Given the description of an element on the screen output the (x, y) to click on. 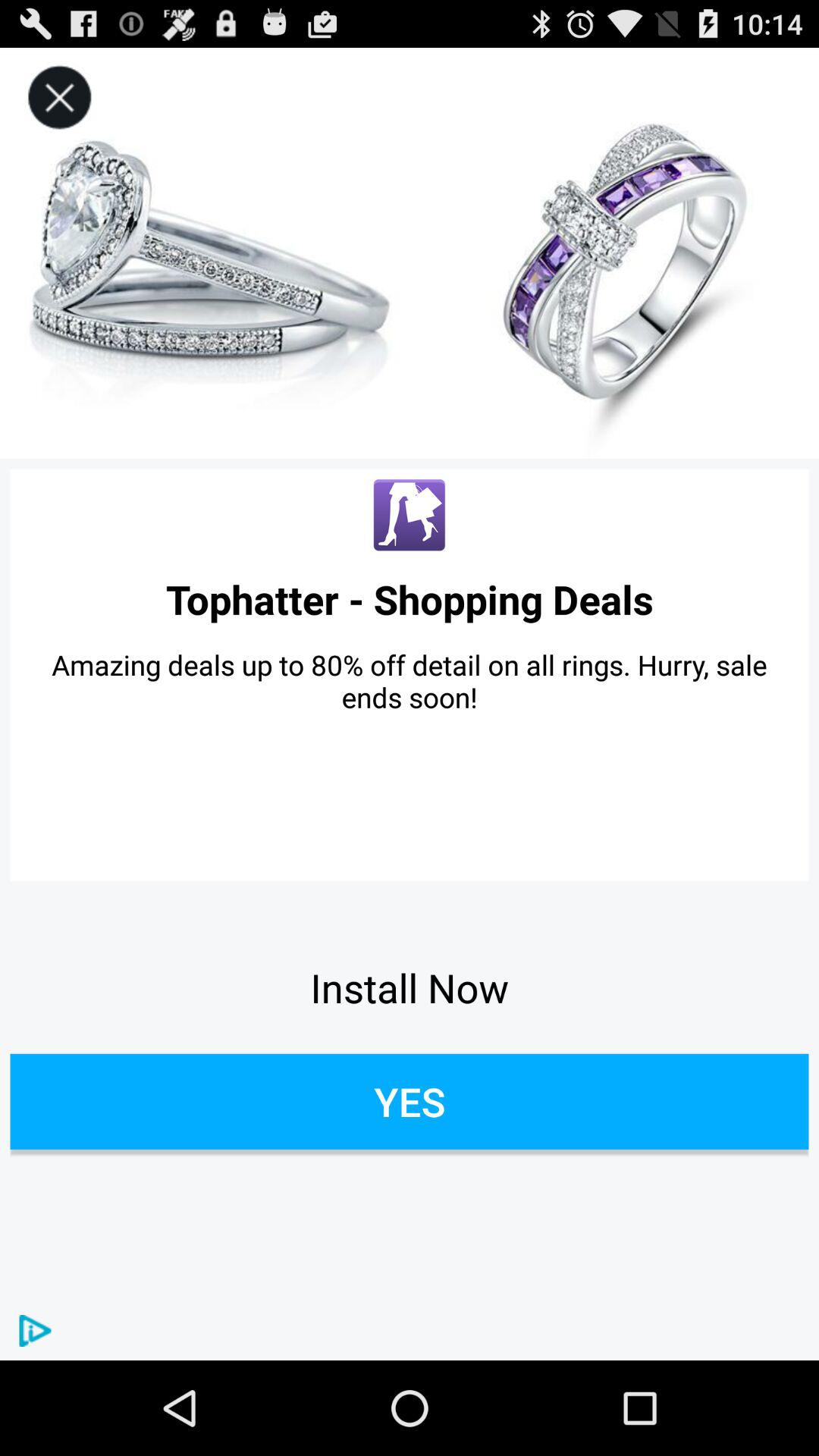
turn on icon below the install now item (409, 1101)
